Given the description of an element on the screen output the (x, y) to click on. 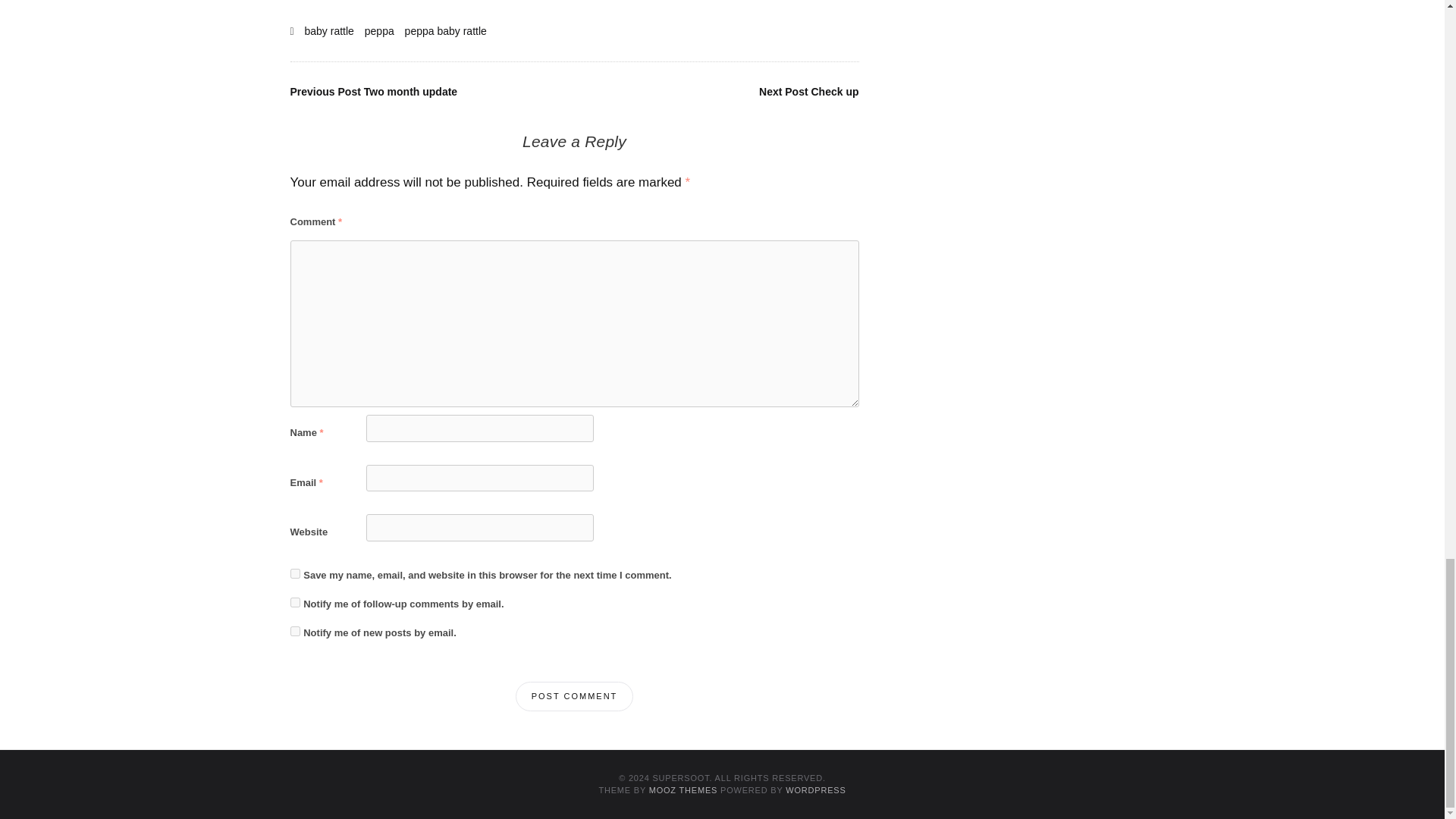
peppa baby rattle (445, 30)
Previous Post Two month update  (374, 91)
yes (294, 573)
baby rattle (328, 30)
Post Comment (574, 696)
Next Post Check up (808, 91)
subscribe (294, 631)
Post Comment (574, 696)
peppa (379, 30)
subscribe (294, 602)
